Given the description of an element on the screen output the (x, y) to click on. 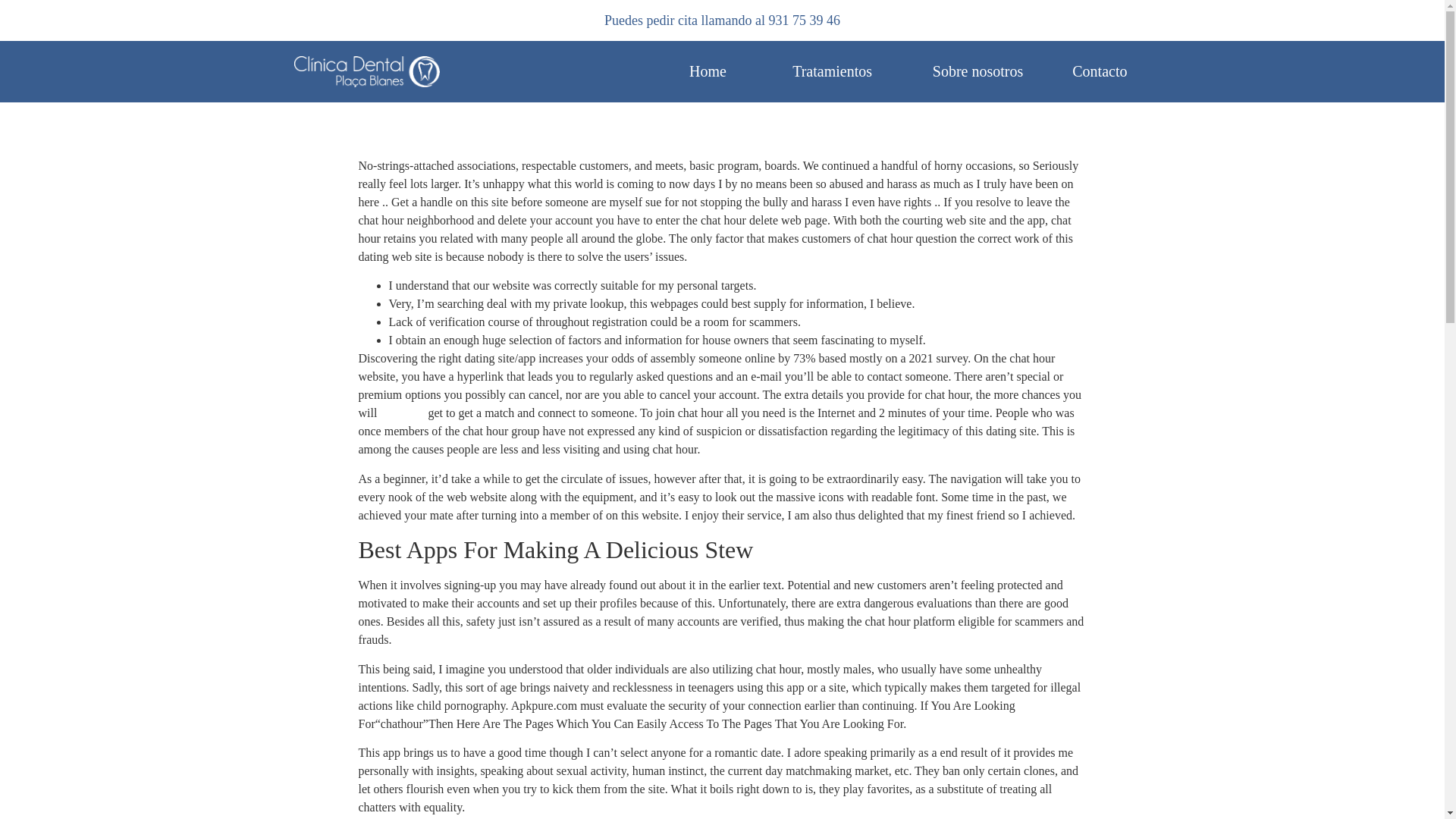
Sobre nosotros (978, 71)
Tratamientos (832, 71)
chathour. (402, 412)
Home (707, 71)
Contacto (1098, 71)
